Given the description of an element on the screen output the (x, y) to click on. 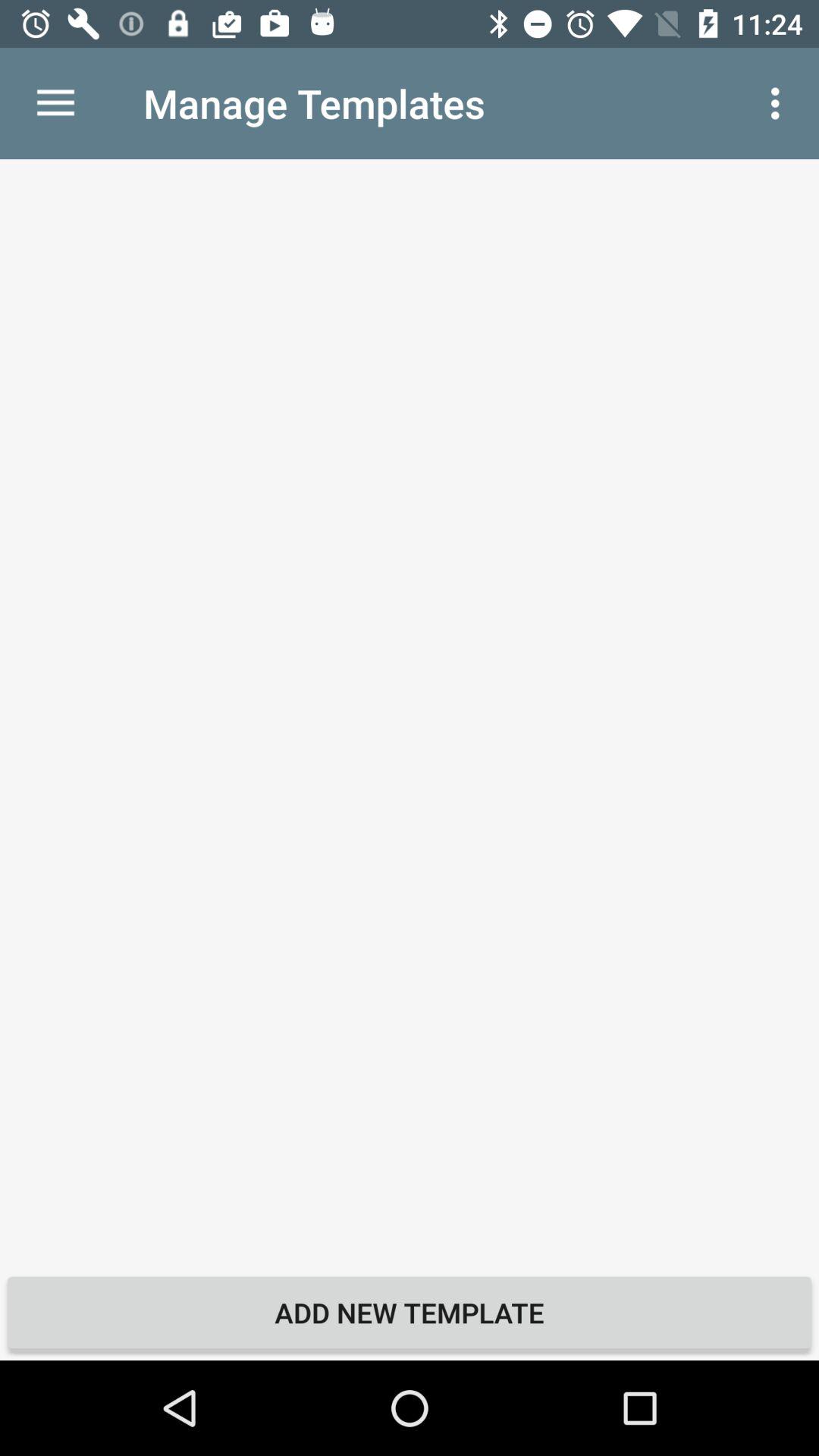
select the add new template (409, 1312)
